Given the description of an element on the screen output the (x, y) to click on. 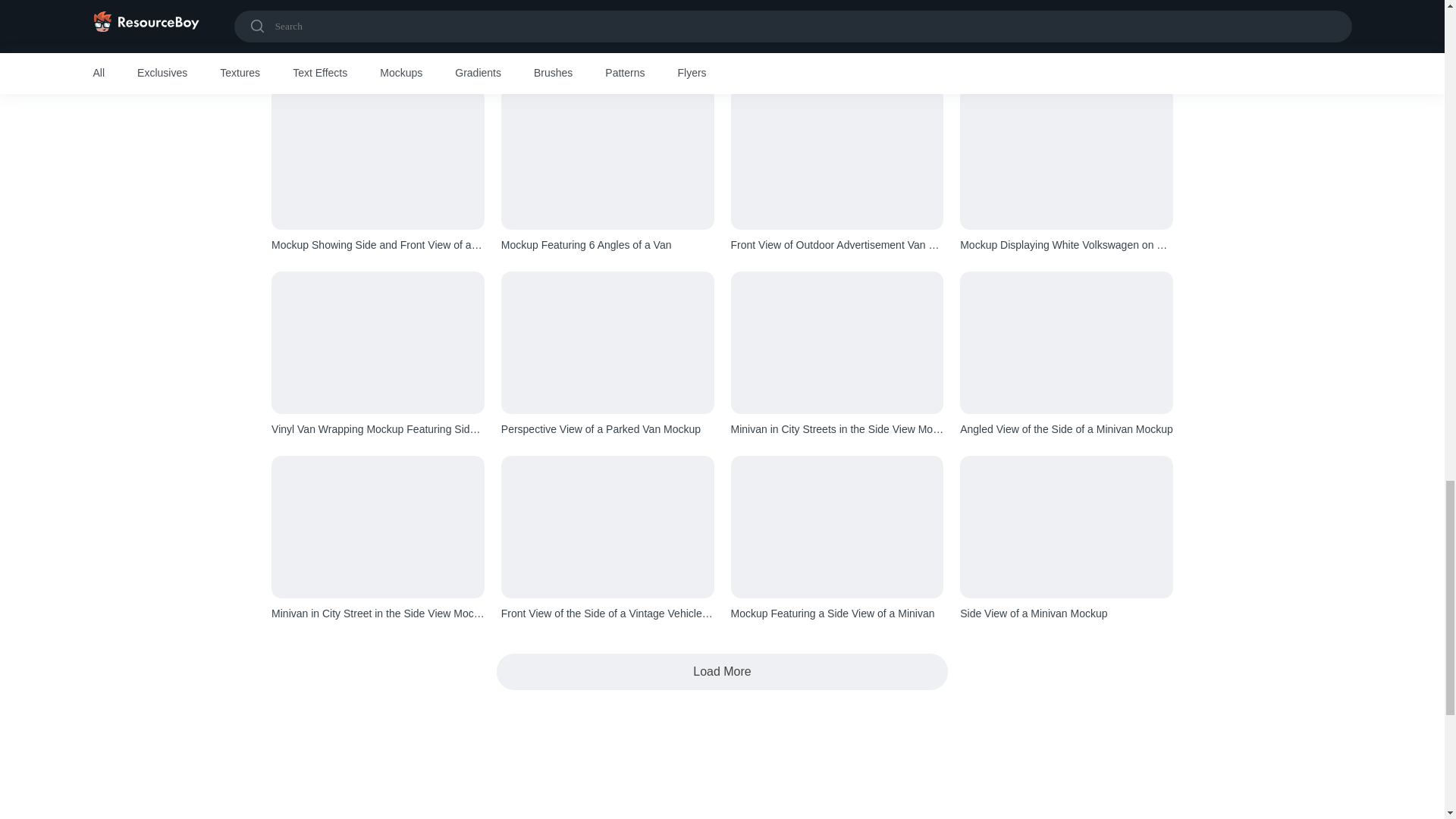
Three Cargo Van Mockups Featuring Back, Front and Side Views (377, 60)
Mockup Showing a Side View of a Van (836, 60)
Side View of Pickup Mockup in Urban Setting (607, 60)
